Given the description of an element on the screen output the (x, y) to click on. 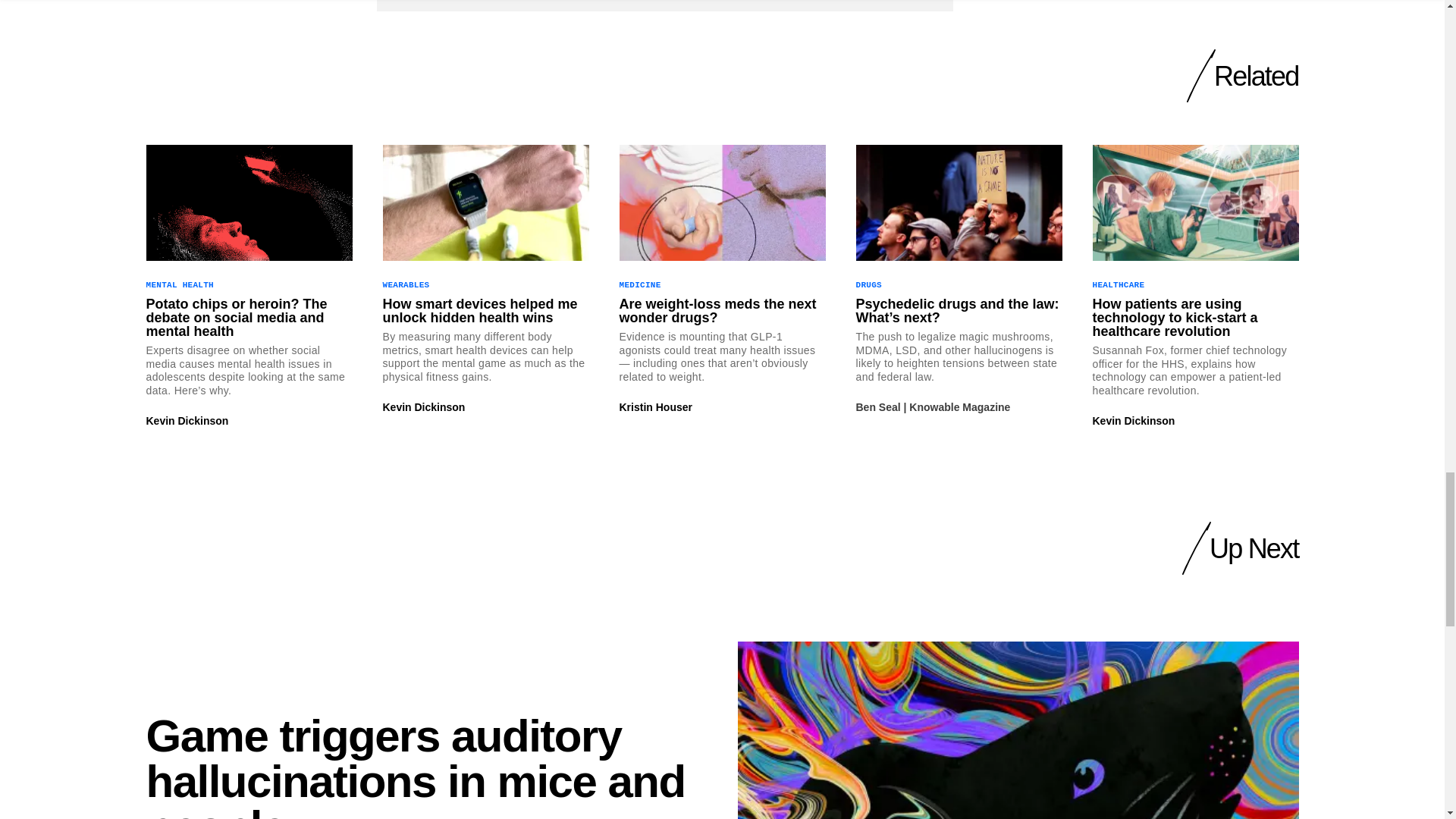
MENTAL HEALTH (178, 284)
Kevin Dickinson (422, 407)
How smart devices helped me unlock hidden health wins (484, 310)
Kevin Dickinson (186, 420)
WEARABLES (405, 284)
